Given the description of an element on the screen output the (x, y) to click on. 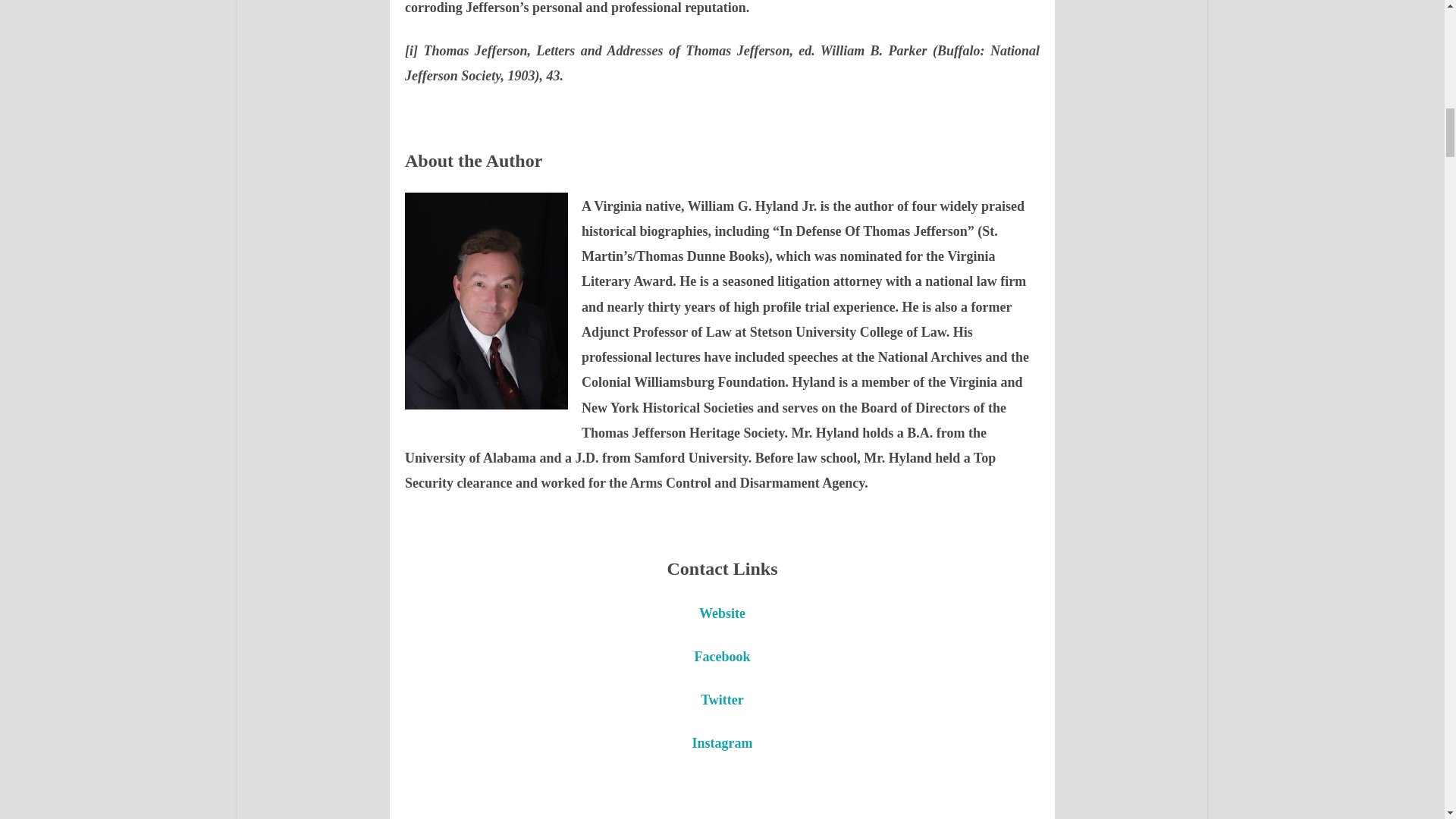
Twitter (722, 698)
Instagram (721, 741)
Facebook (722, 655)
Website (721, 611)
